Given the description of an element on the screen output the (x, y) to click on. 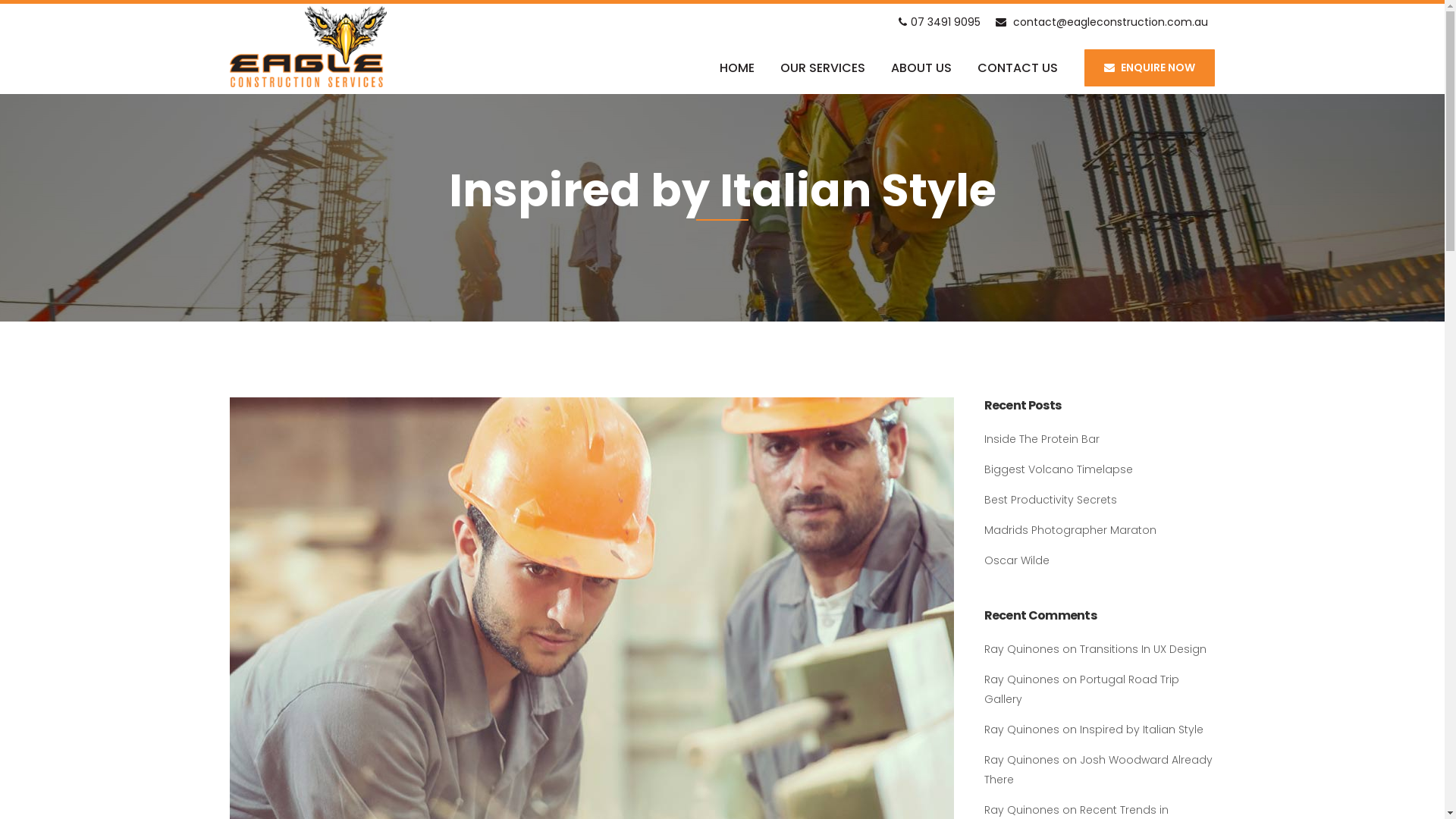
07 3491 9095 Element type: text (938, 21)
Madrids Photographer Maraton Element type: text (1070, 529)
HOME Element type: text (736, 67)
OUR SERVICES Element type: text (822, 67)
contact@eagleconstruction.com.au Element type: text (1100, 21)
Inside The Protein Bar Element type: text (1041, 438)
ABOUT US Element type: text (921, 67)
ENQUIRE NOW Element type: text (1148, 67)
Portugal Road Trip Gallery Element type: text (1081, 688)
Oscar Wilde Element type: text (1016, 559)
CONTACT US Element type: text (1017, 67)
Inspired by Italian Style Element type: text (1141, 729)
Biggest Volcano Timelapse Element type: text (1058, 468)
Best Productivity Secrets Element type: text (1050, 499)
Josh Woodward Already There Element type: text (1098, 769)
Transitions In UX Design Element type: text (1142, 648)
